Given the description of an element on the screen output the (x, y) to click on. 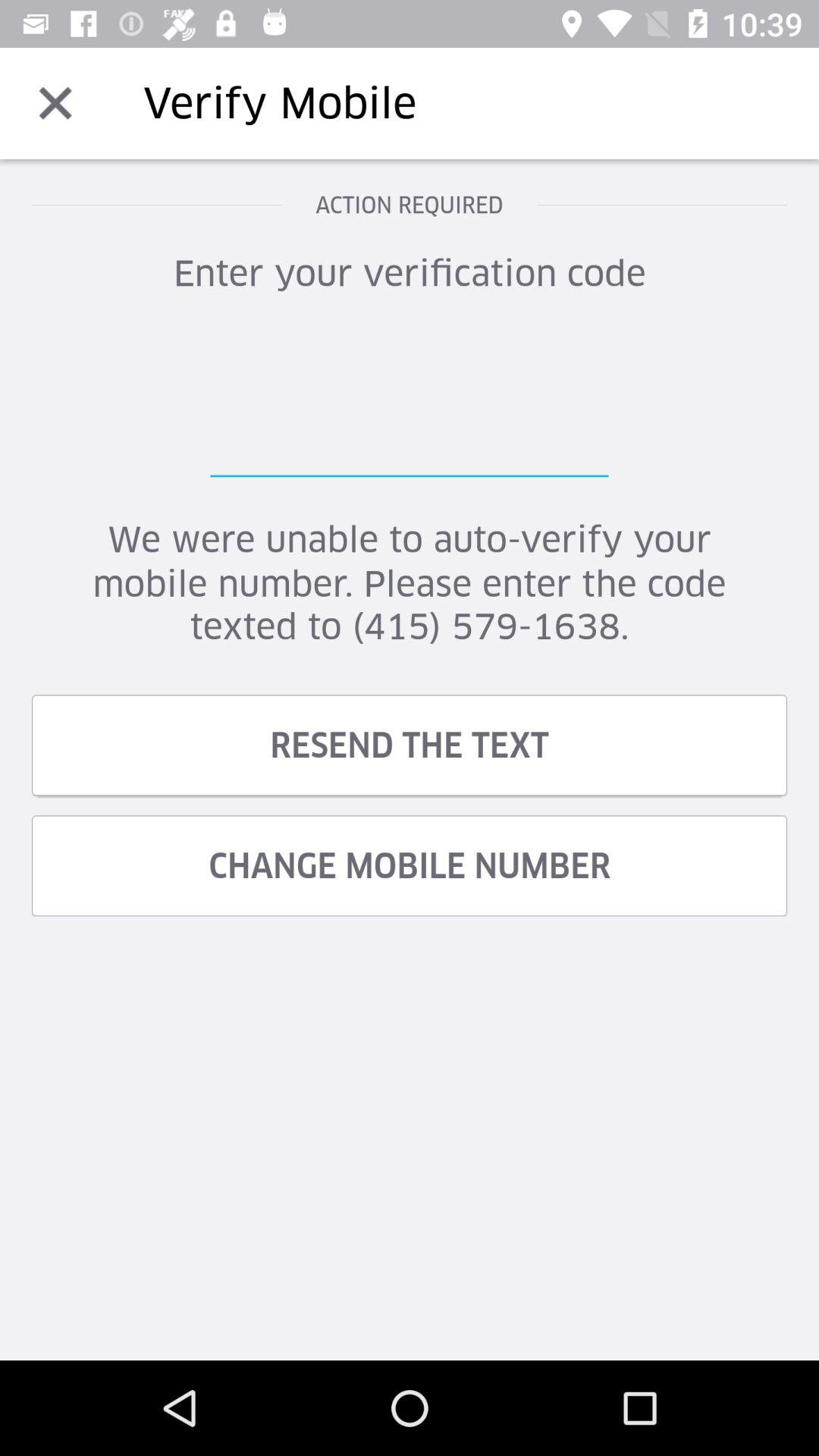
choose the item to the left of verify mobile item (55, 103)
